Given the description of an element on the screen output the (x, y) to click on. 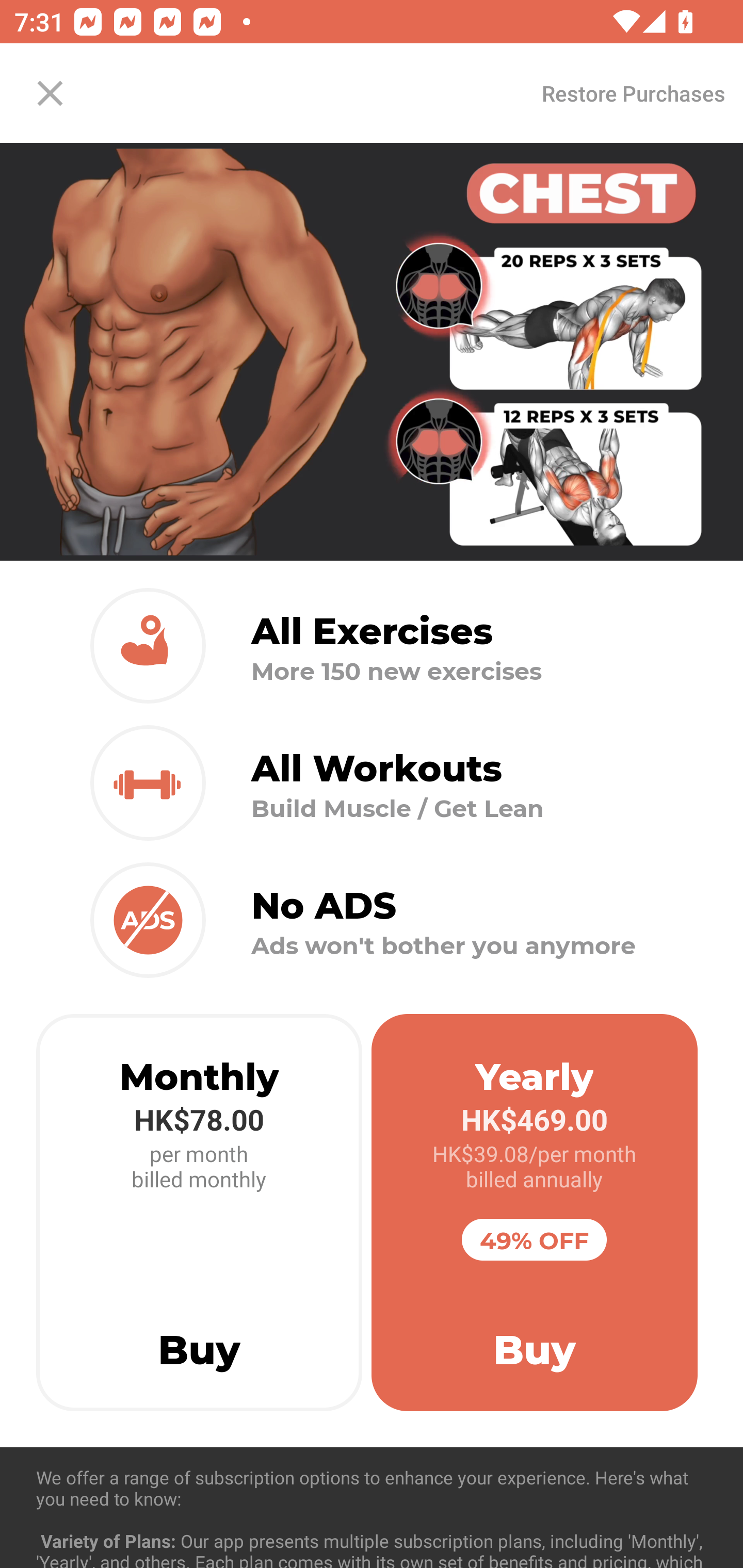
Restore Purchases (632, 92)
Monthly HK$78.00 per month
billed monthly Buy (199, 1212)
